Given the description of an element on the screen output the (x, y) to click on. 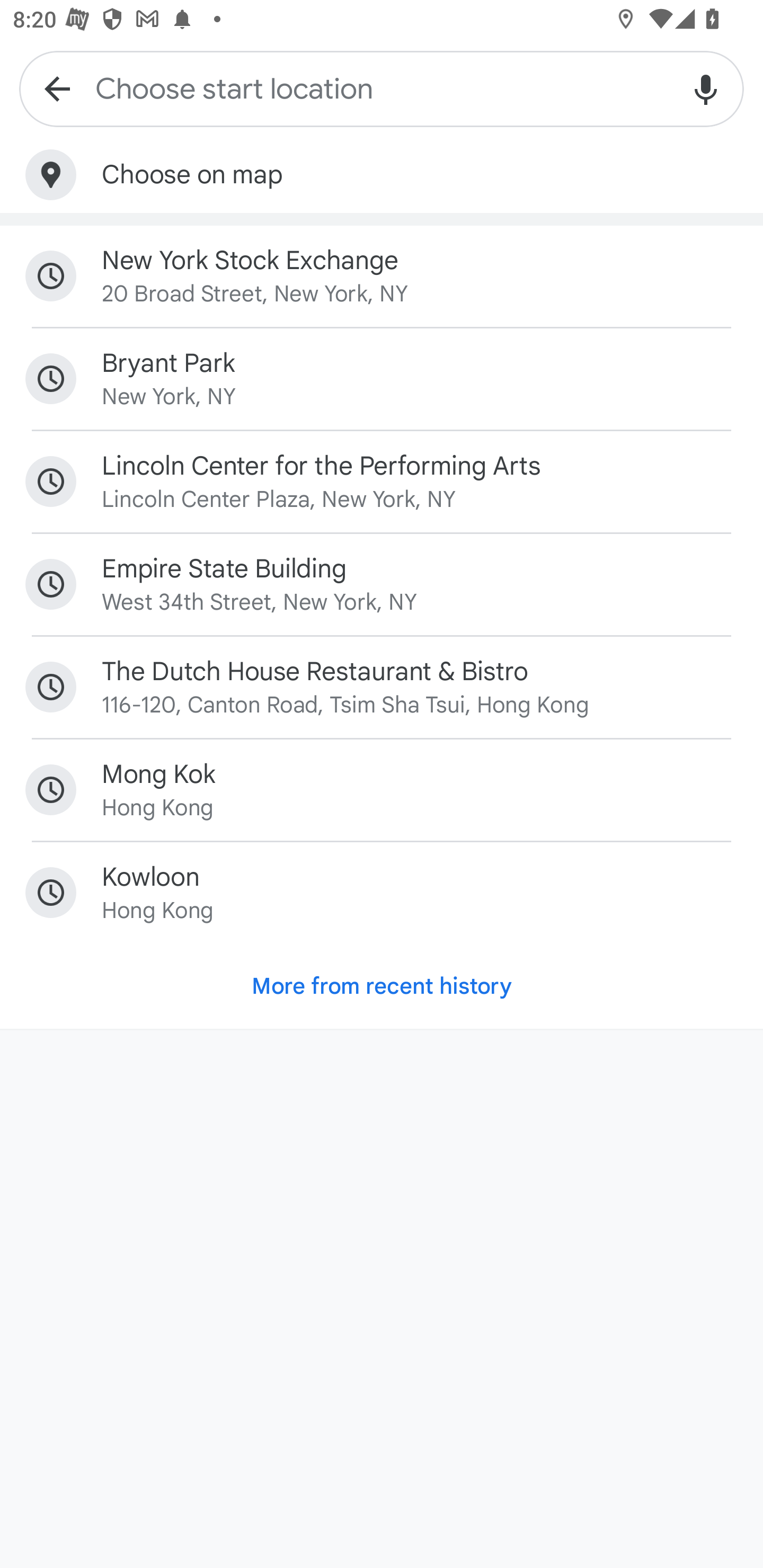
Navigate up (57, 88)
Choose start location (381, 88)
Voice search (705, 88)
Choose on map (381, 174)
Bryant Park New York, NY (381, 378)
Mong Kok Hong Kong (381, 790)
Kowloon Hong Kong (381, 892)
More from recent history (381, 985)
